Given the description of an element on the screen output the (x, y) to click on. 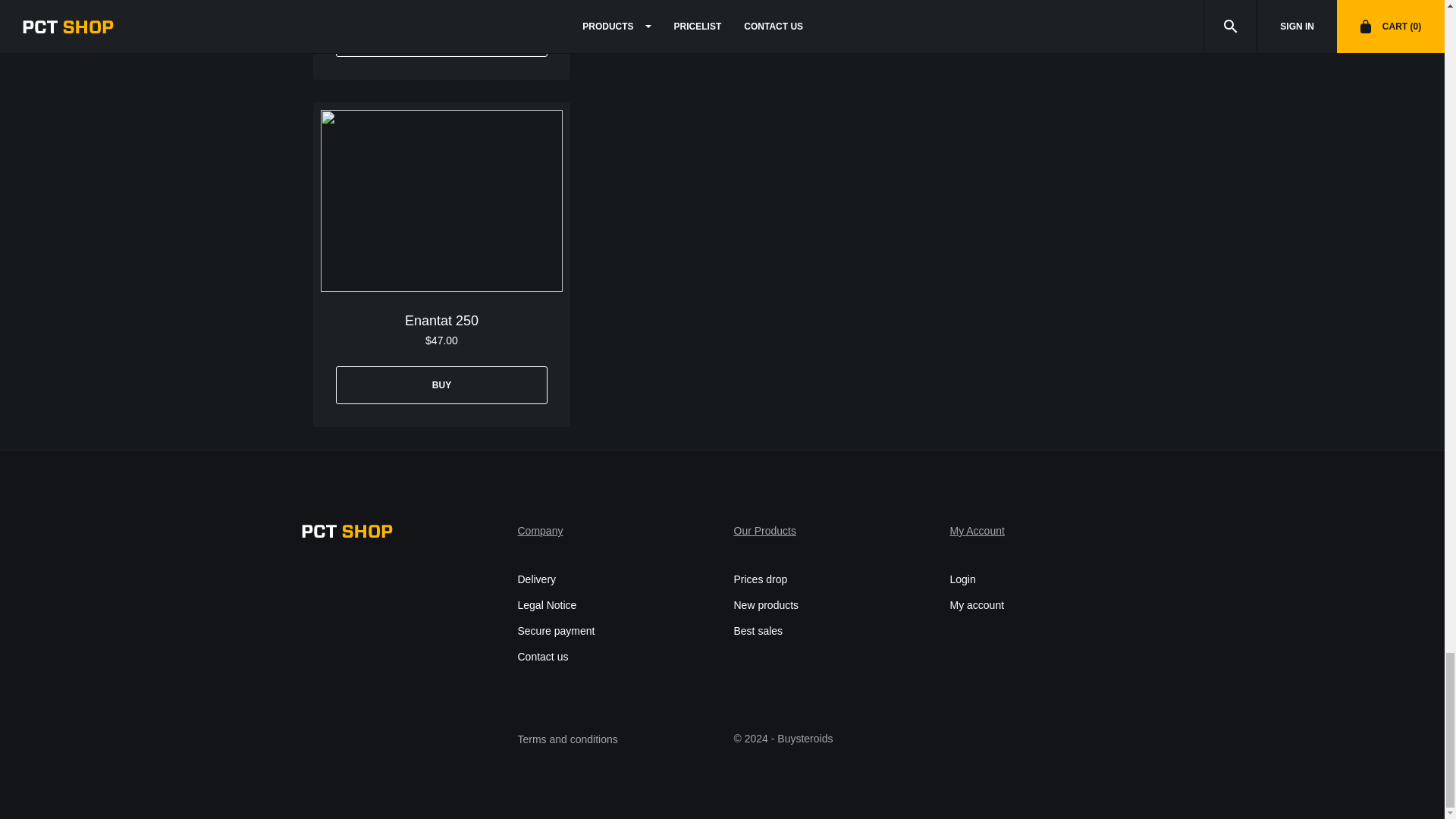
Use our form to contact us (541, 657)
Our terms and conditions of use (566, 739)
Our best sales (758, 631)
Our new products (766, 605)
Our terms and conditions of delivery (536, 579)
Our secure payment method (555, 631)
Legal notice (546, 605)
Our special products (760, 579)
